Given the description of an element on the screen output the (x, y) to click on. 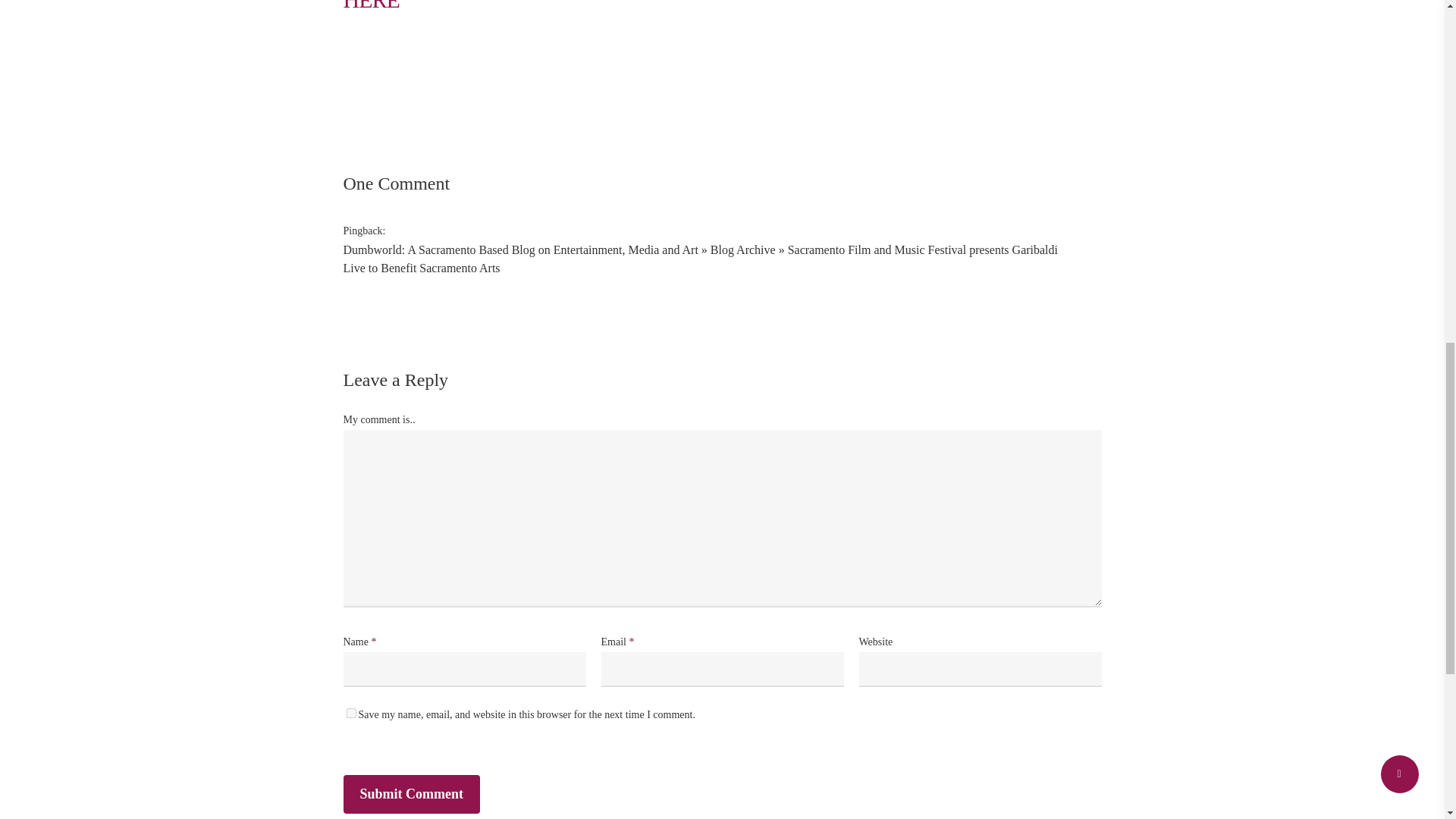
Submit Comment (411, 794)
Submit Comment (411, 794)
CLICK HERE (700, 6)
yes (350, 713)
